Given the description of an element on the screen output the (x, y) to click on. 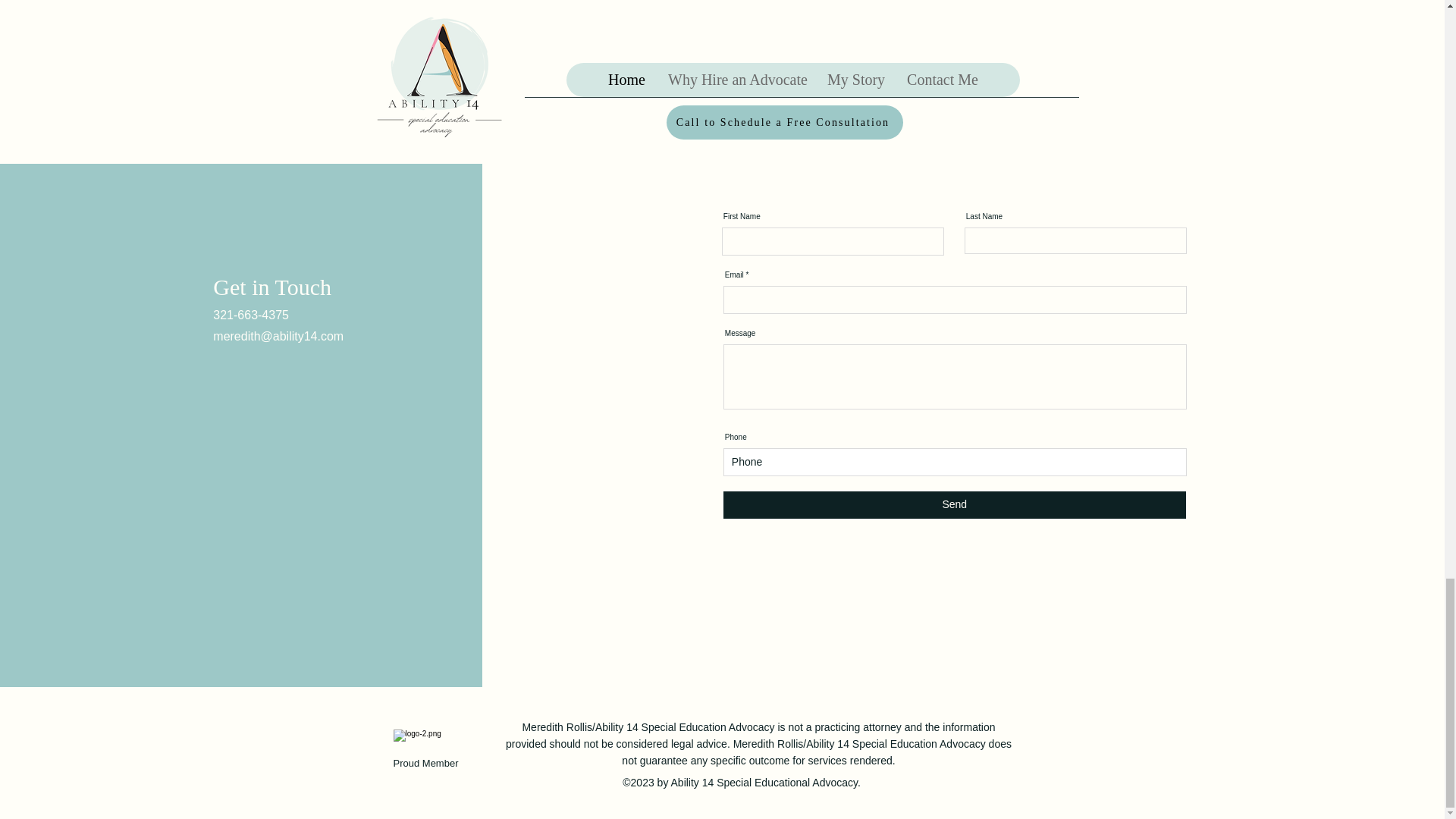
Send (954, 504)
